Given the description of an element on the screen output the (x, y) to click on. 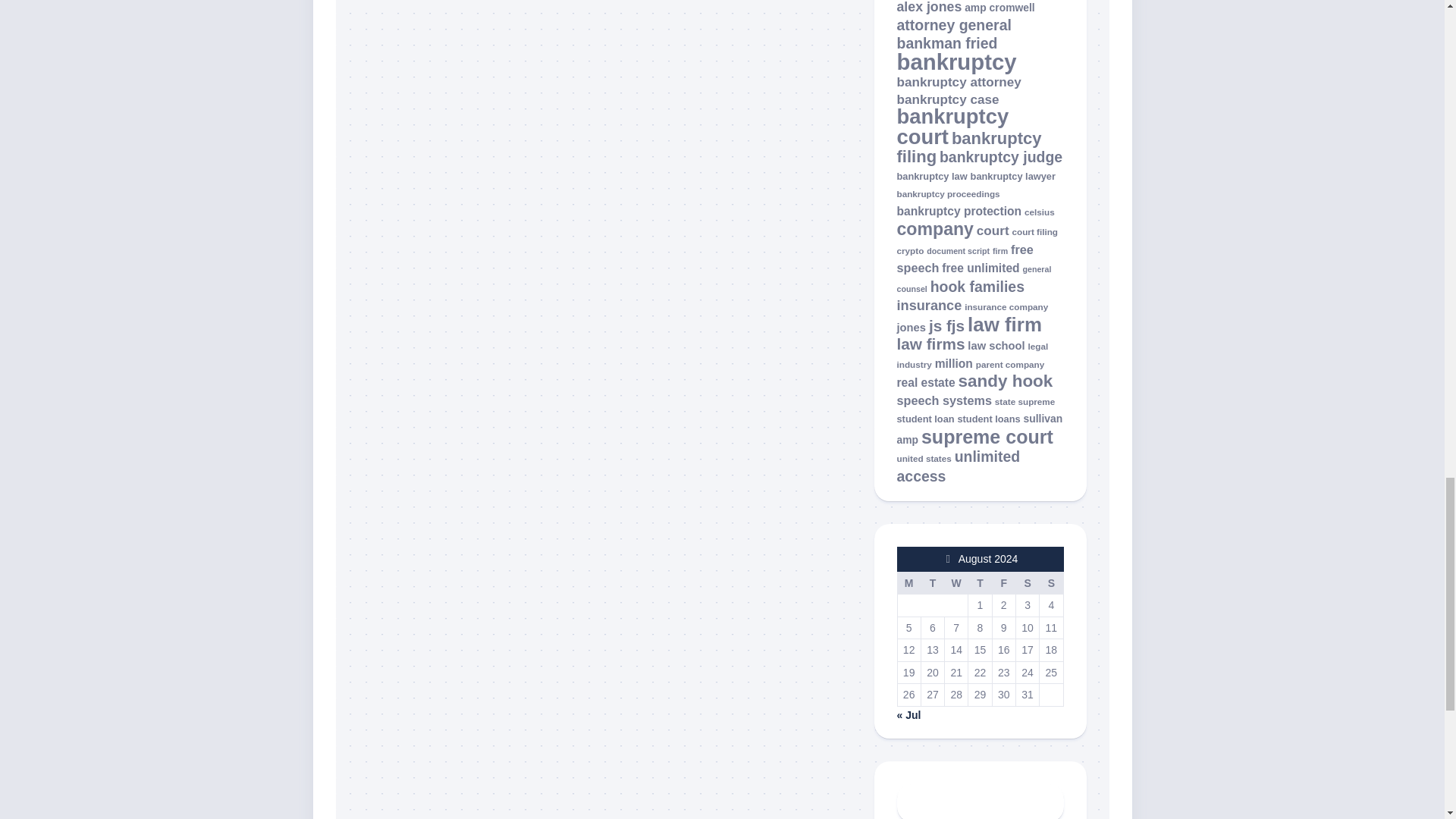
Friday (1002, 582)
Sunday (1050, 582)
Tuesday (931, 582)
Thursday (979, 582)
Monday (908, 582)
Wednesday (956, 582)
Saturday (1026, 582)
